Given the description of an element on the screen output the (x, y) to click on. 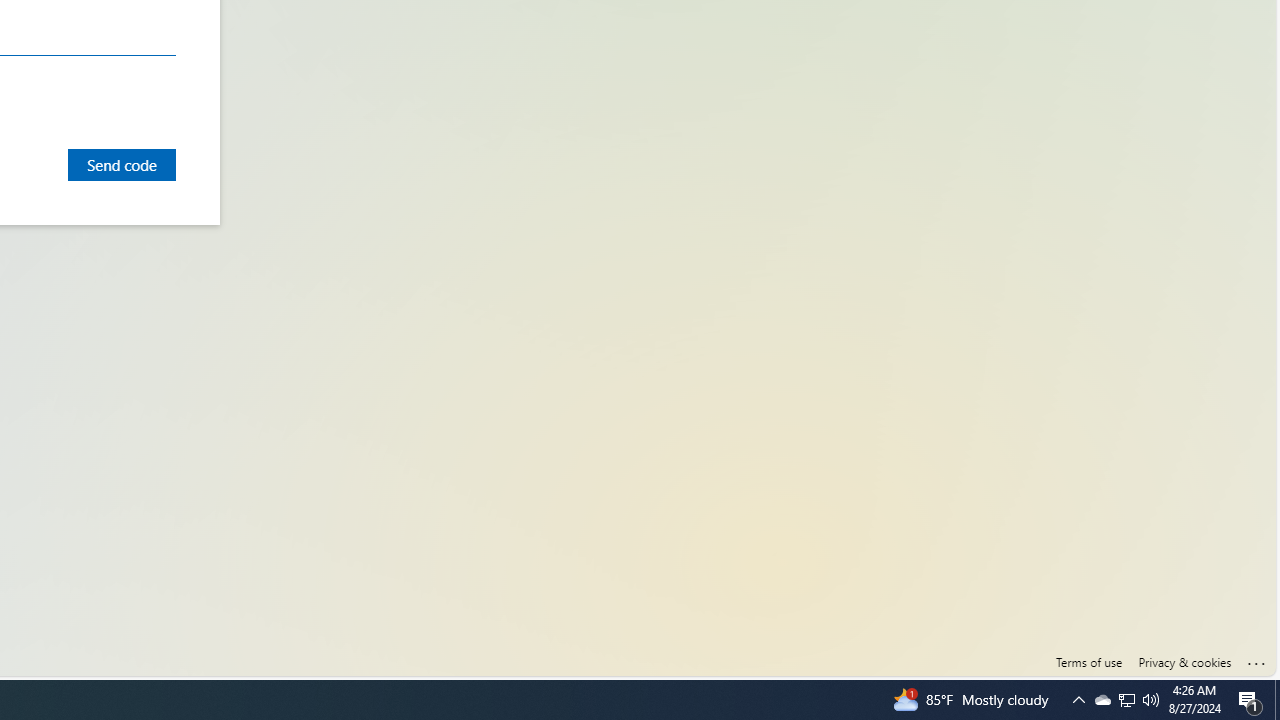
Click here for troubleshooting information (1257, 659)
Send code (121, 164)
Privacy & cookies (1184, 662)
